Given the description of an element on the screen output the (x, y) to click on. 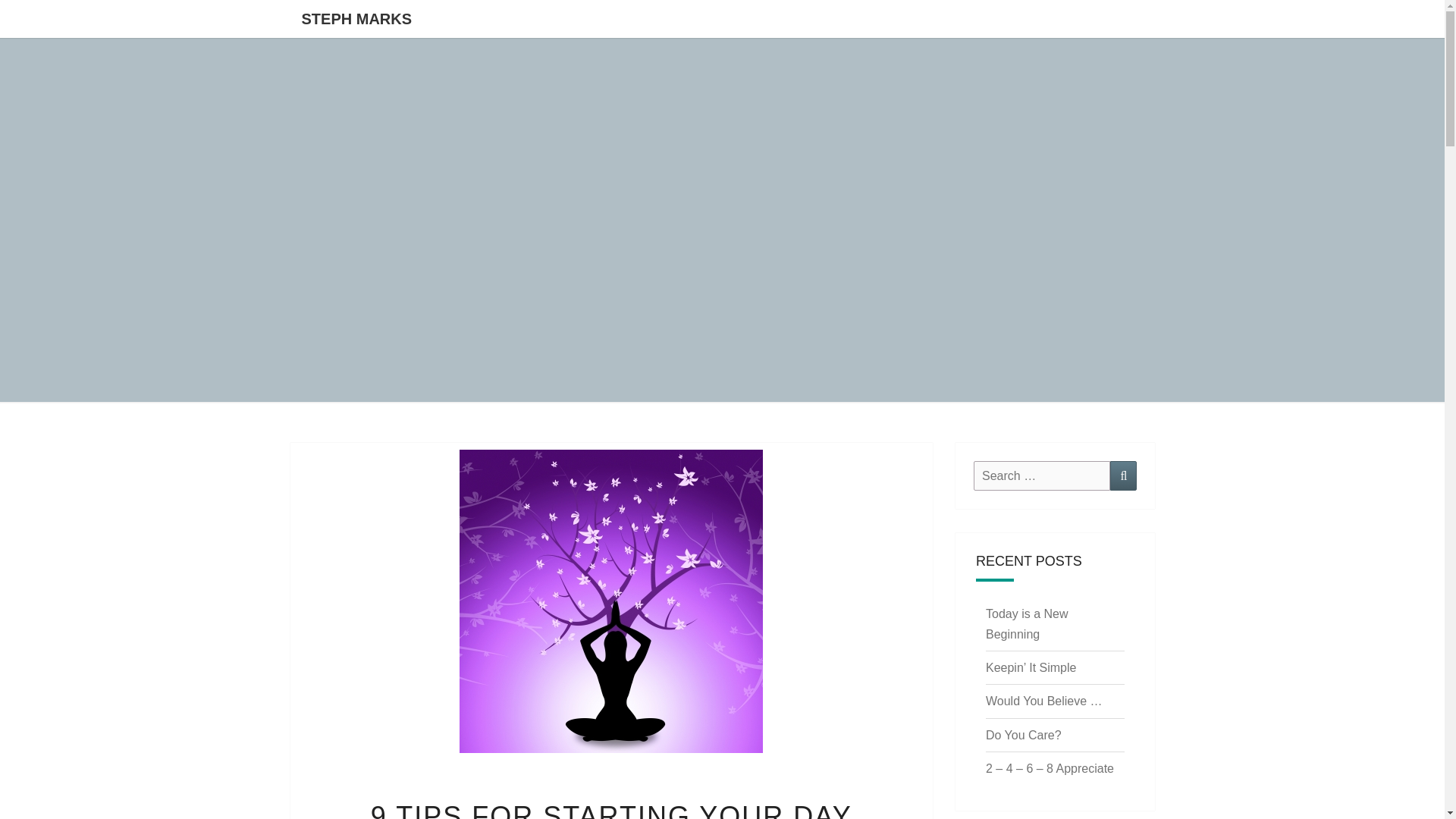
STEPH MARKS (356, 18)
Today is a New Beginning (1026, 623)
Do You Care? (1023, 735)
Search for: (1041, 475)
Search (1123, 475)
